Given the description of an element on the screen output the (x, y) to click on. 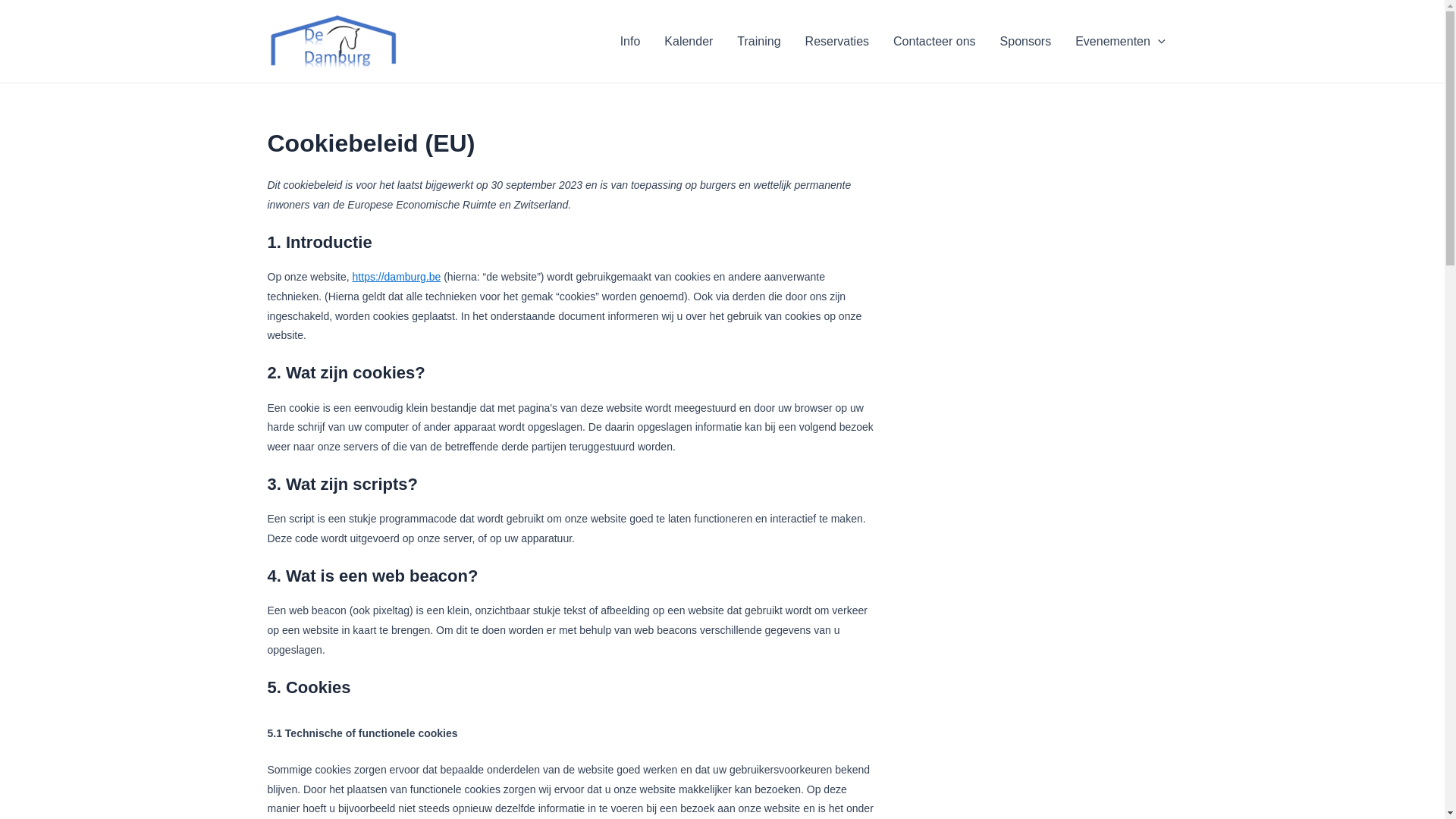
https://damburg.be Element type: text (396, 276)
Evenementen Element type: text (1119, 40)
Contacteer ons Element type: text (934, 40)
Reservaties Element type: text (837, 40)
Kalender Element type: text (688, 40)
Sponsors Element type: text (1025, 40)
Training Element type: text (758, 40)
Info Element type: text (630, 40)
